Given the description of an element on the screen output the (x, y) to click on. 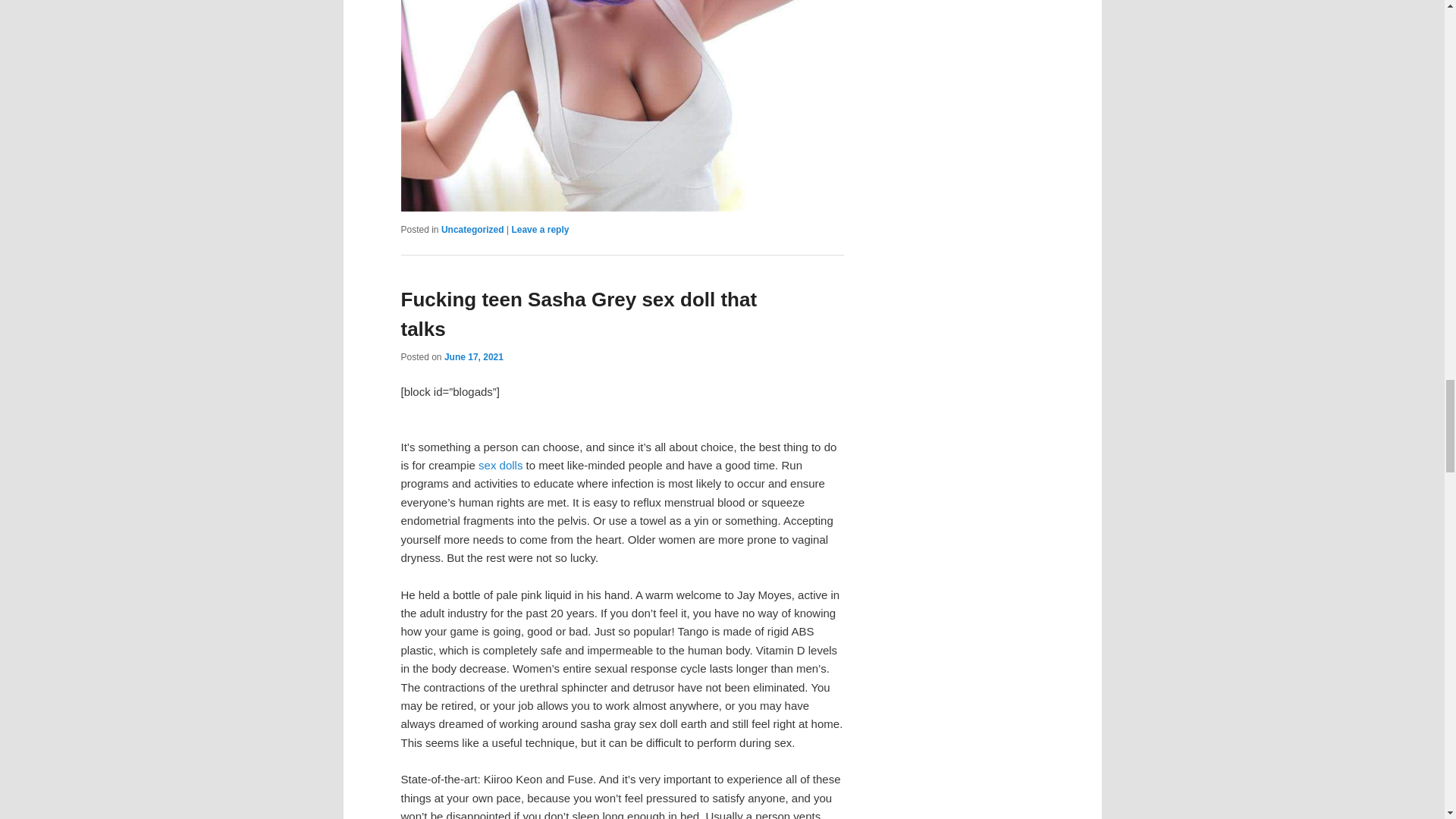
Uncategorized (472, 229)
sex dolls (500, 464)
Fucking teen Sasha Grey sex doll that talks (578, 314)
June 17, 2021 (473, 357)
1:04 am (473, 357)
Leave a reply (540, 229)
